Given the description of an element on the screen output the (x, y) to click on. 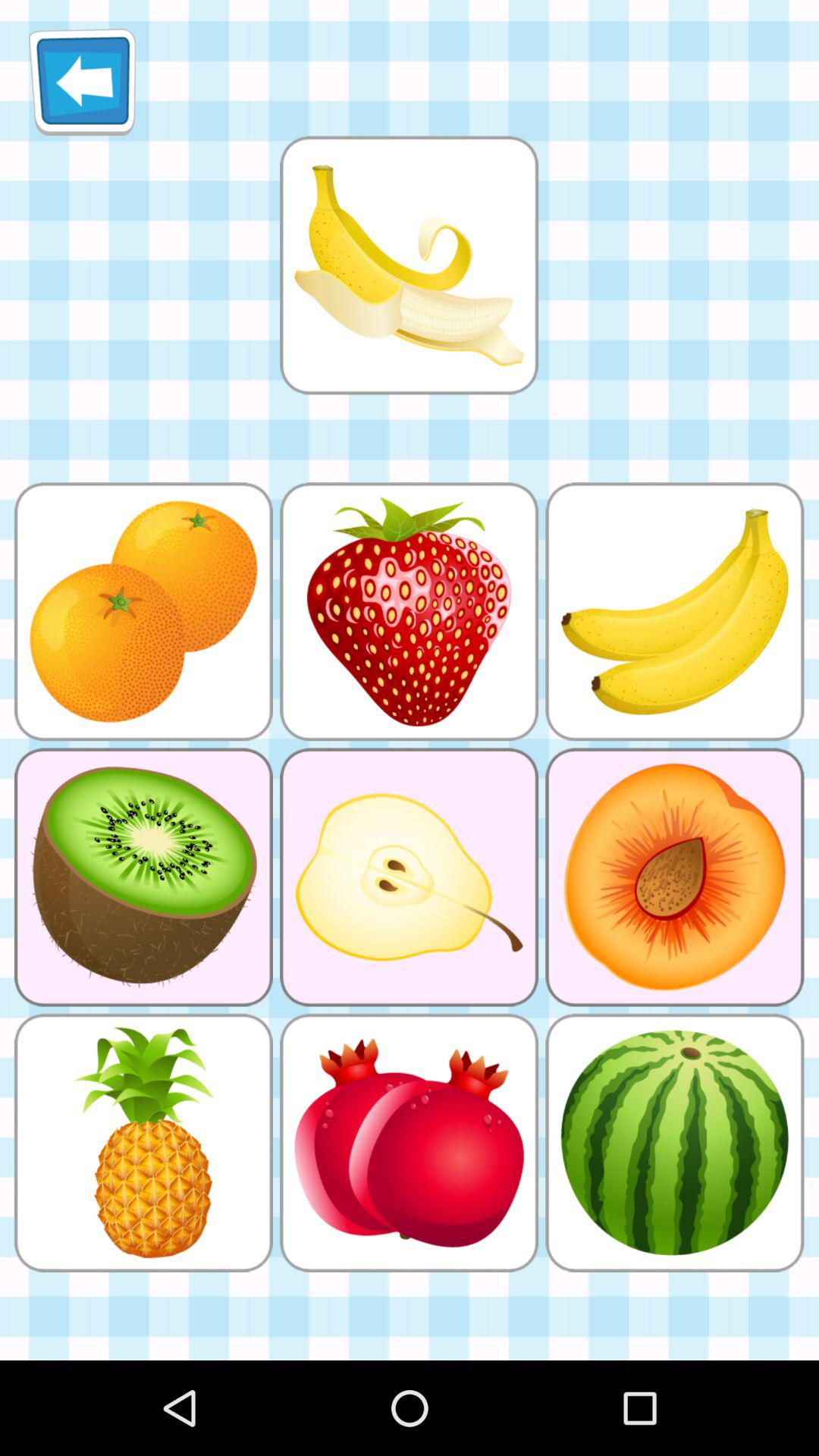
click 3rd image (409, 265)
